Given the description of an element on the screen output the (x, y) to click on. 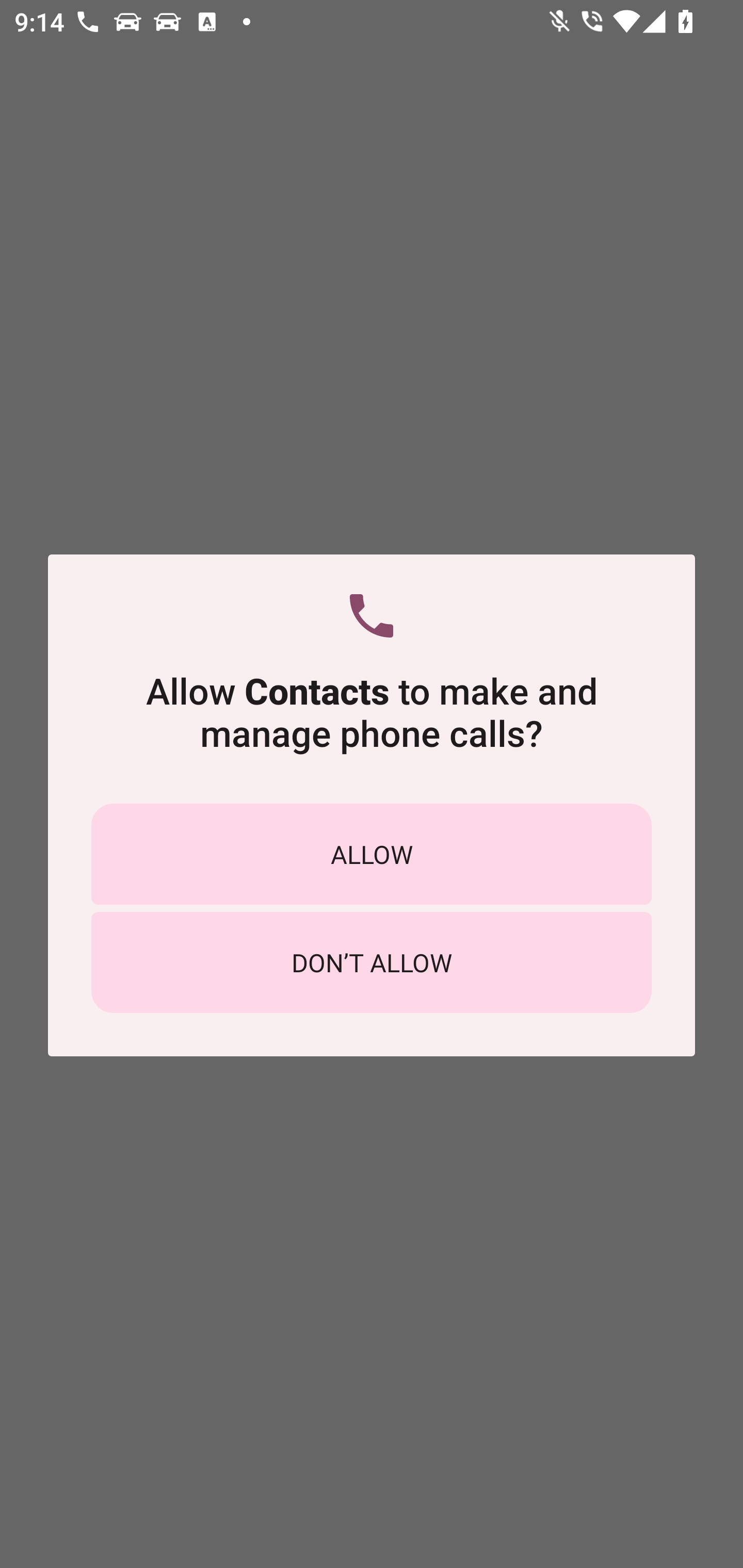
ALLOW (371, 853)
DON’T ALLOW (371, 962)
